Given the description of an element on the screen output the (x, y) to click on. 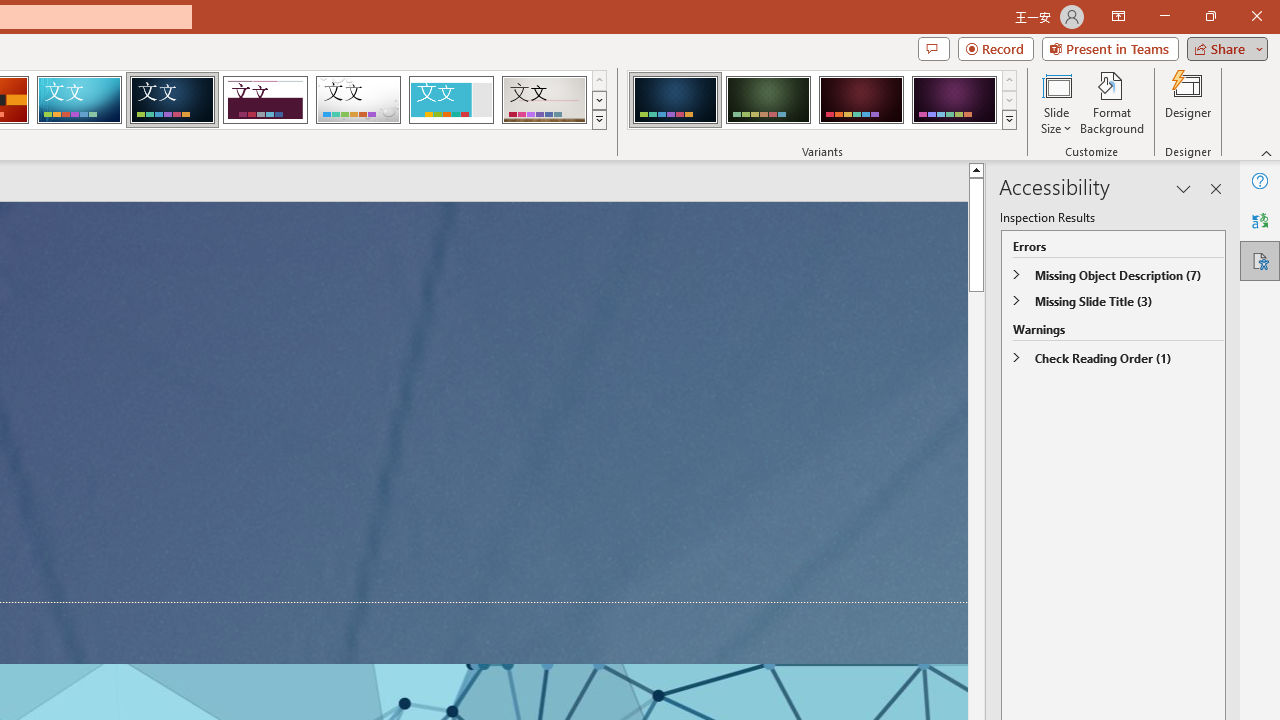
Slide Size (1056, 102)
Frame (450, 100)
Dividend (265, 100)
Format Background (1111, 102)
